Given the description of an element on the screen output the (x, y) to click on. 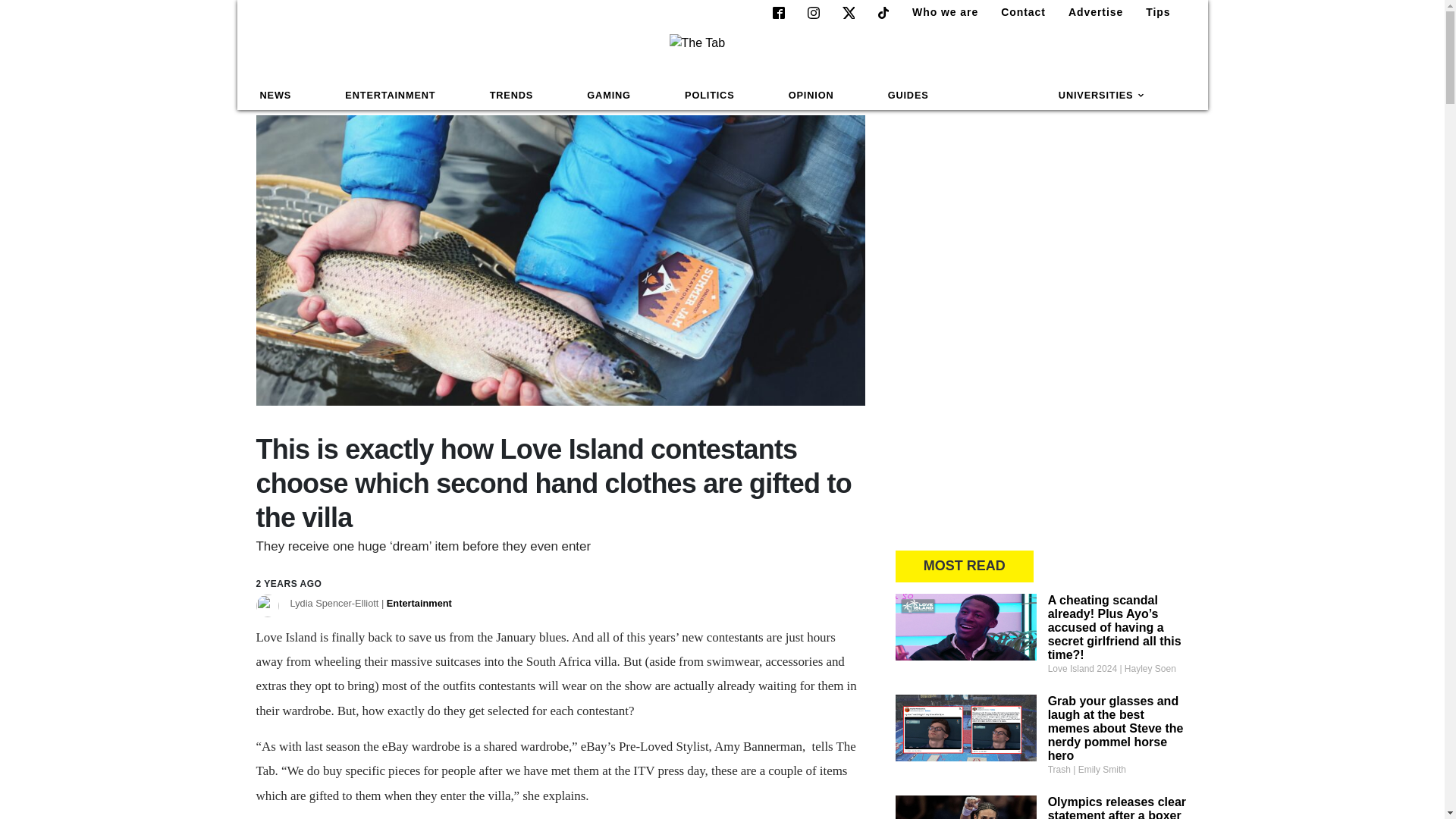
ENTERTAINMENT (389, 95)
GAMING (608, 95)
GUIDES (908, 95)
Contact (1016, 11)
Tips (1152, 11)
TRENDS (511, 95)
POLITICS (708, 95)
Advertise (1089, 11)
OPINION (811, 95)
NEWS (275, 95)
UNIVERSITIES (1101, 95)
Posts by Lydia Spencer-Elliott (370, 603)
Who we are (938, 11)
